Given the description of an element on the screen output the (x, y) to click on. 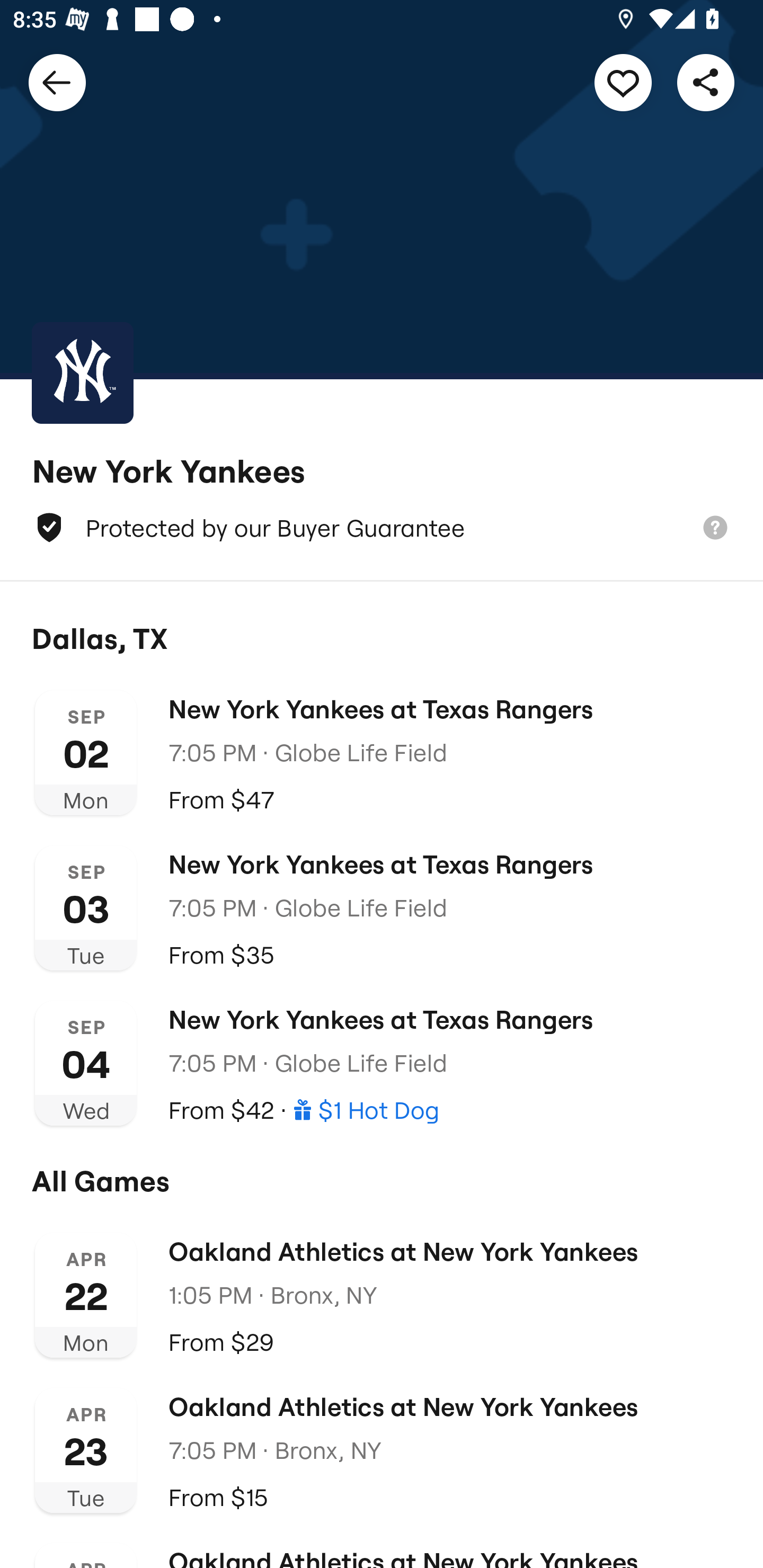
Back (57, 81)
Track this performer (623, 81)
Share this performer (705, 81)
Protected by our Buyer Guarantee Learn more (381, 527)
